Given the description of an element on the screen output the (x, y) to click on. 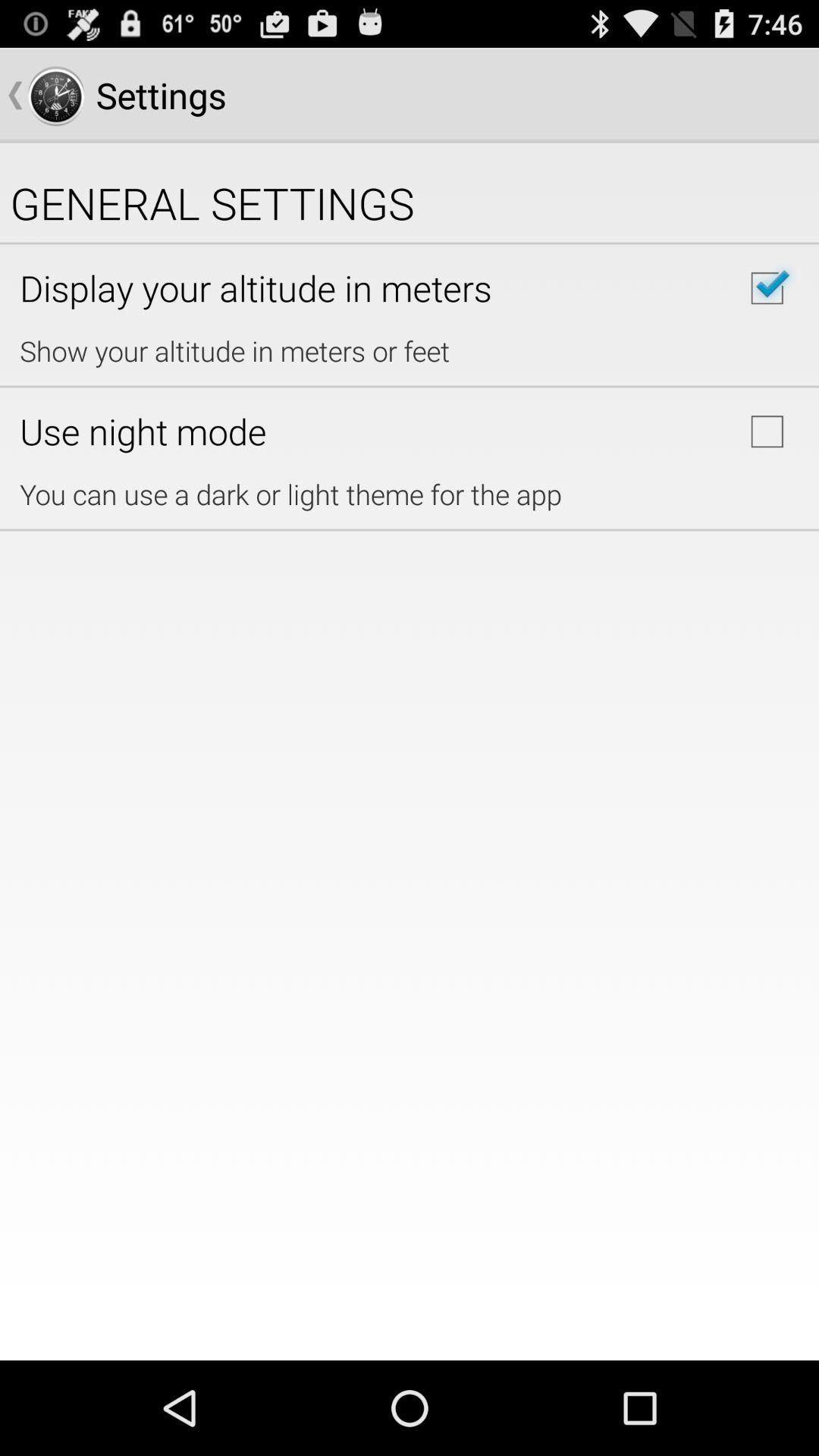
check out (767, 288)
